Given the description of an element on the screen output the (x, y) to click on. 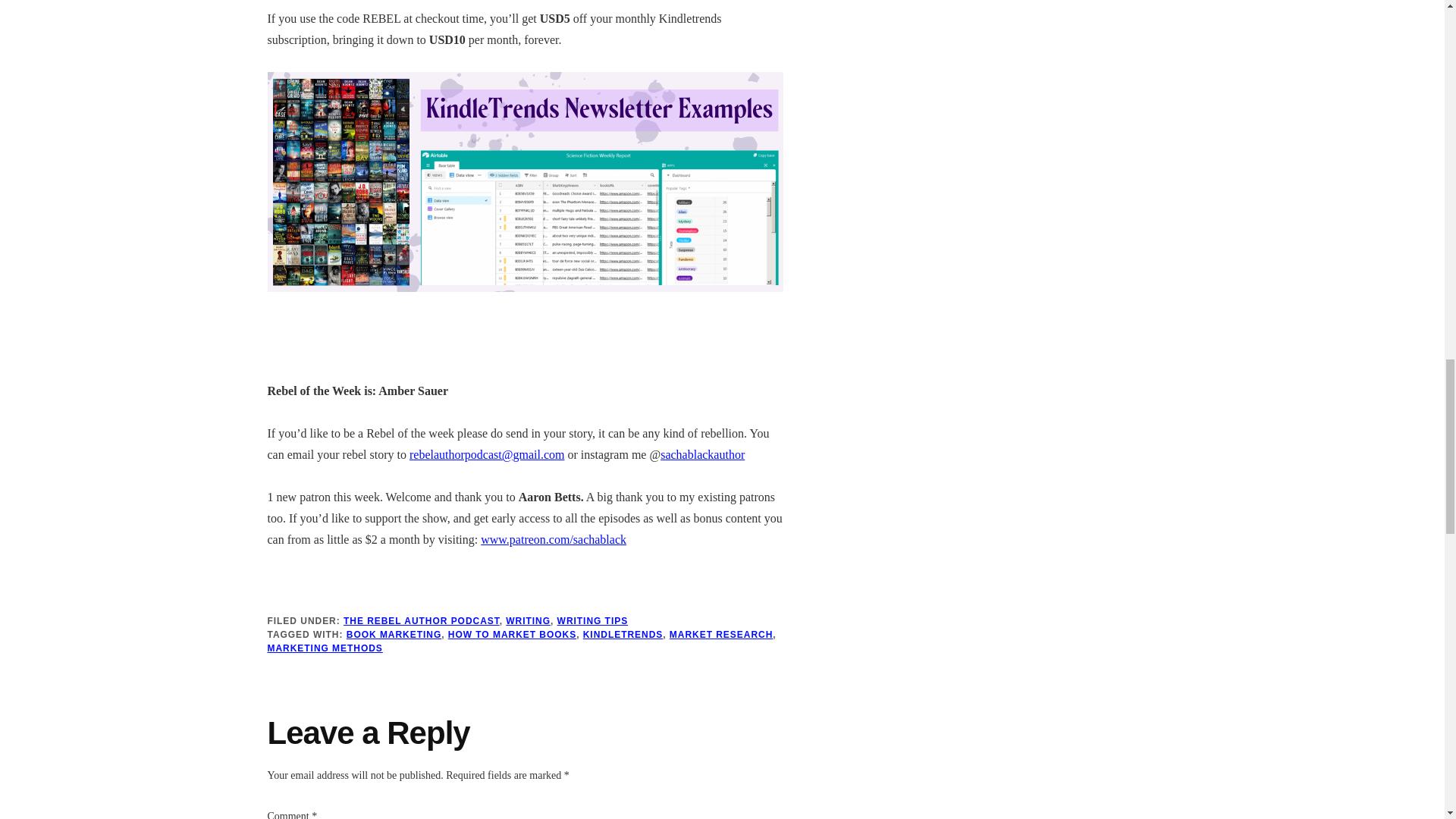
sachablackauthor (702, 454)
BOOK MARKETING (393, 634)
HOW TO MARKET BOOKS (512, 634)
WRITING TIPS (592, 620)
THE REBEL AUTHOR PODCAST (421, 620)
WRITING (527, 620)
KINDLETRENDS (623, 634)
